Given the description of an element on the screen output the (x, y) to click on. 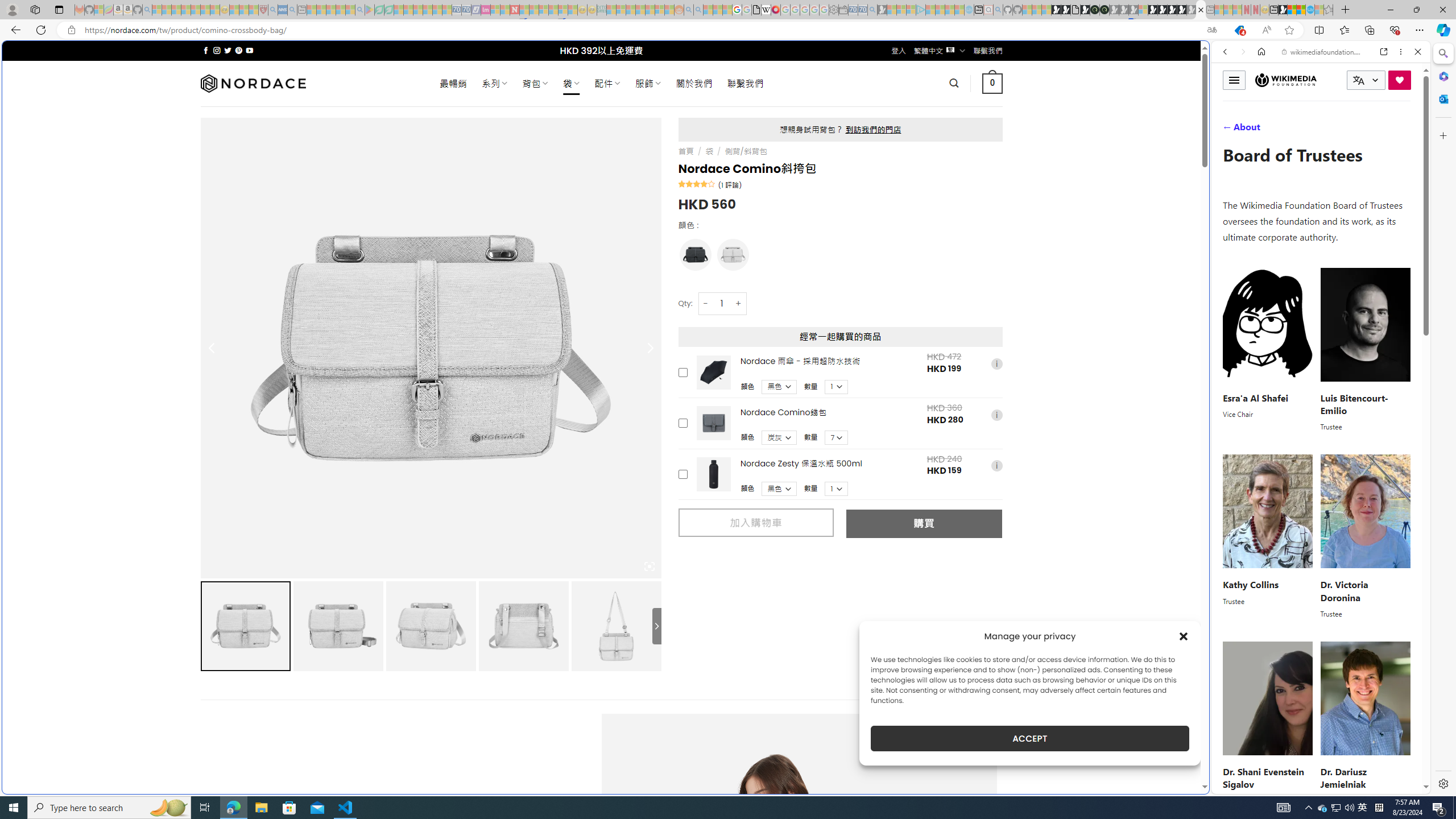
Dr. Dariusz JemielniakTrustee (1365, 723)
Esra'a Al ShafeiVice Chair (1268, 349)
